Given the description of an element on the screen output the (x, y) to click on. 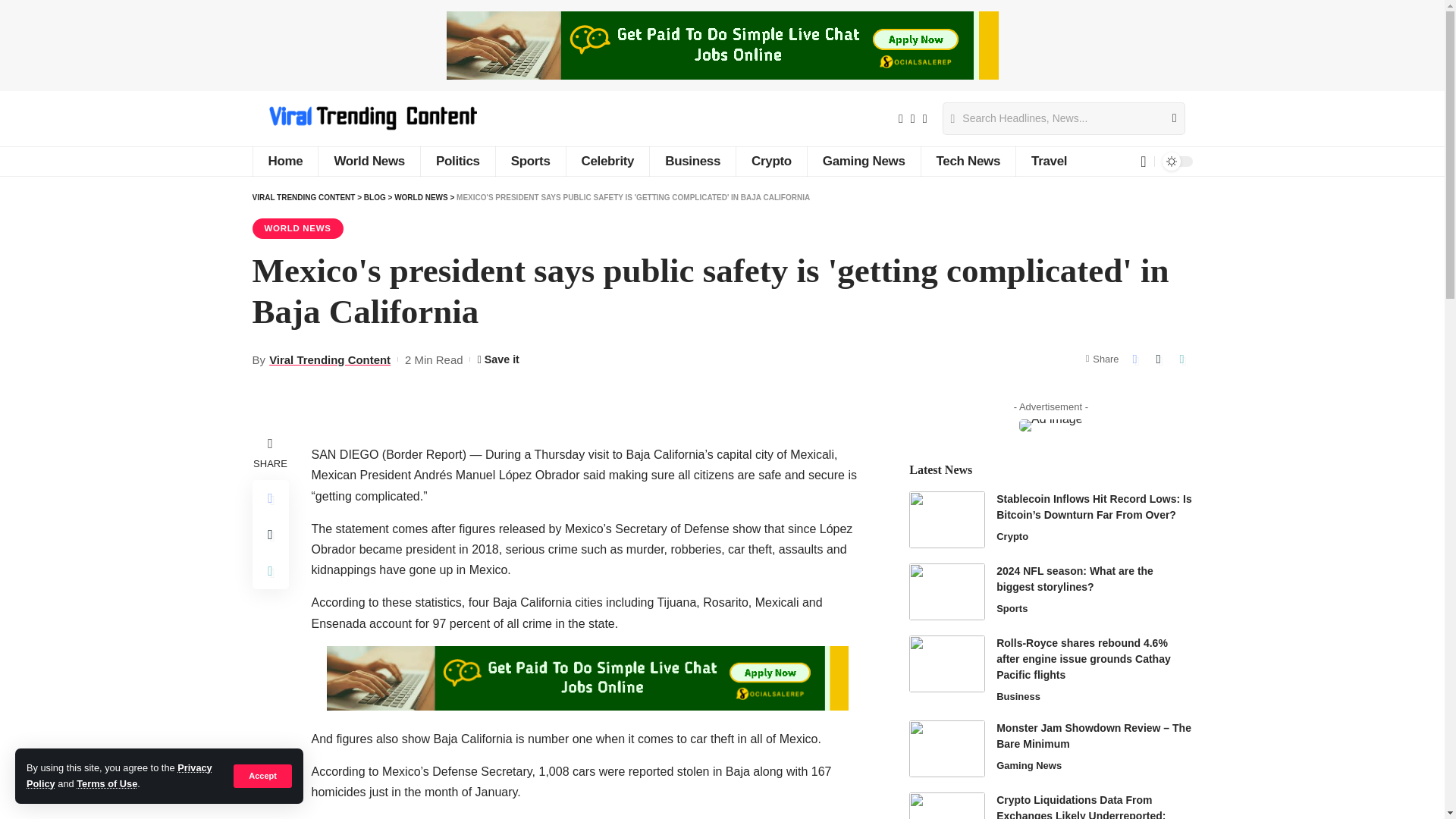
Travel (1047, 161)
Tech News (968, 161)
Gaming News (863, 161)
Go to Viral Trending content. (303, 197)
Crypto (770, 161)
Business (692, 161)
Politics (457, 161)
Sports (530, 161)
Accept (262, 775)
